Given the description of an element on the screen output the (x, y) to click on. 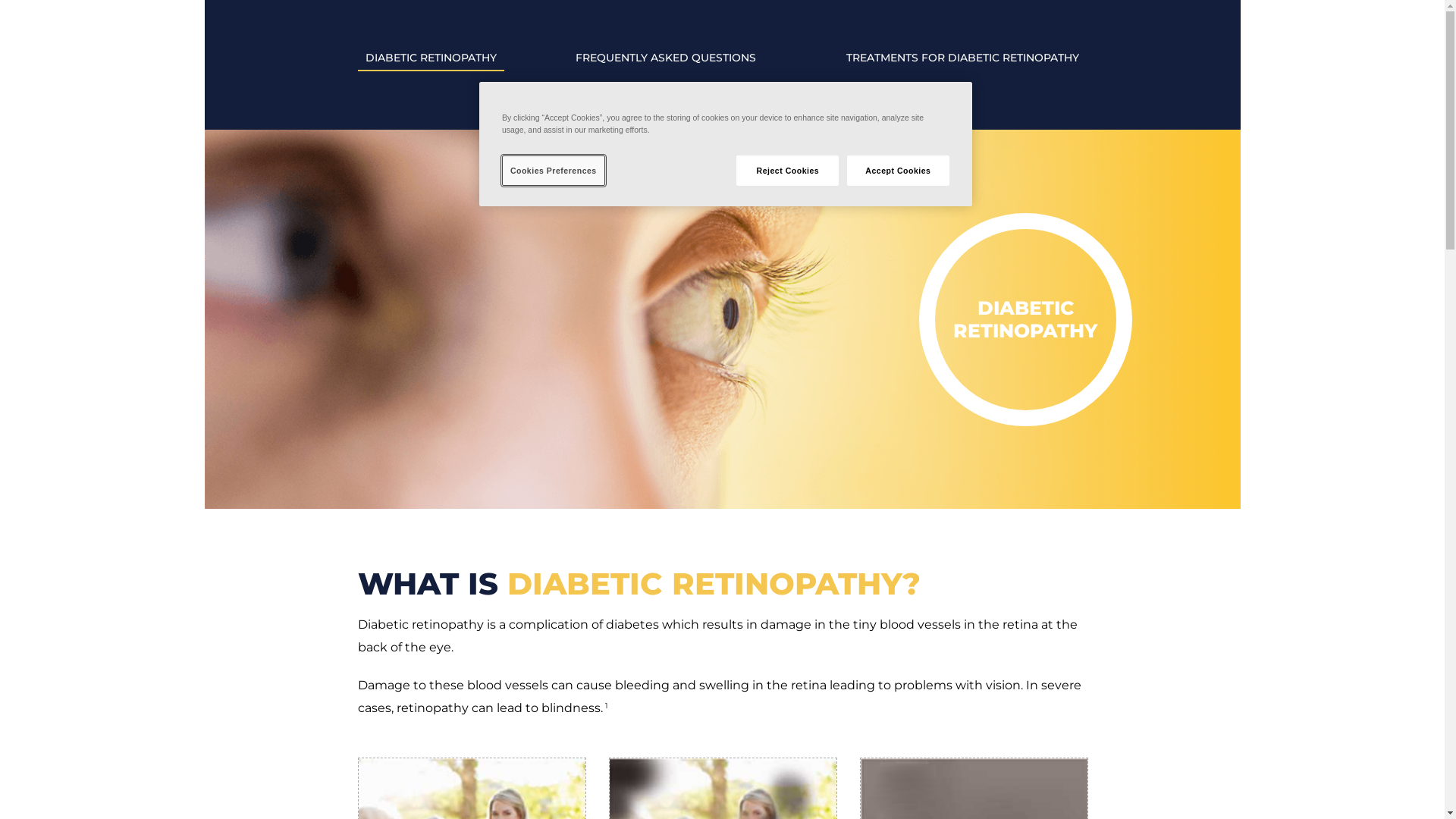
DIABETIC RETINOPATHY Element type: text (430, 57)
Reject Cookies Element type: text (787, 169)
Cookies Preferences Element type: text (553, 169)
TREATMENTS FOR DIABETIC RETINOPATHY Element type: text (962, 57)
FREQUENTLY ASKED QUESTIONS Element type: text (665, 57)
1 Element type: text (606, 705)
Accept Cookies Element type: text (898, 169)
